Given the description of an element on the screen output the (x, y) to click on. 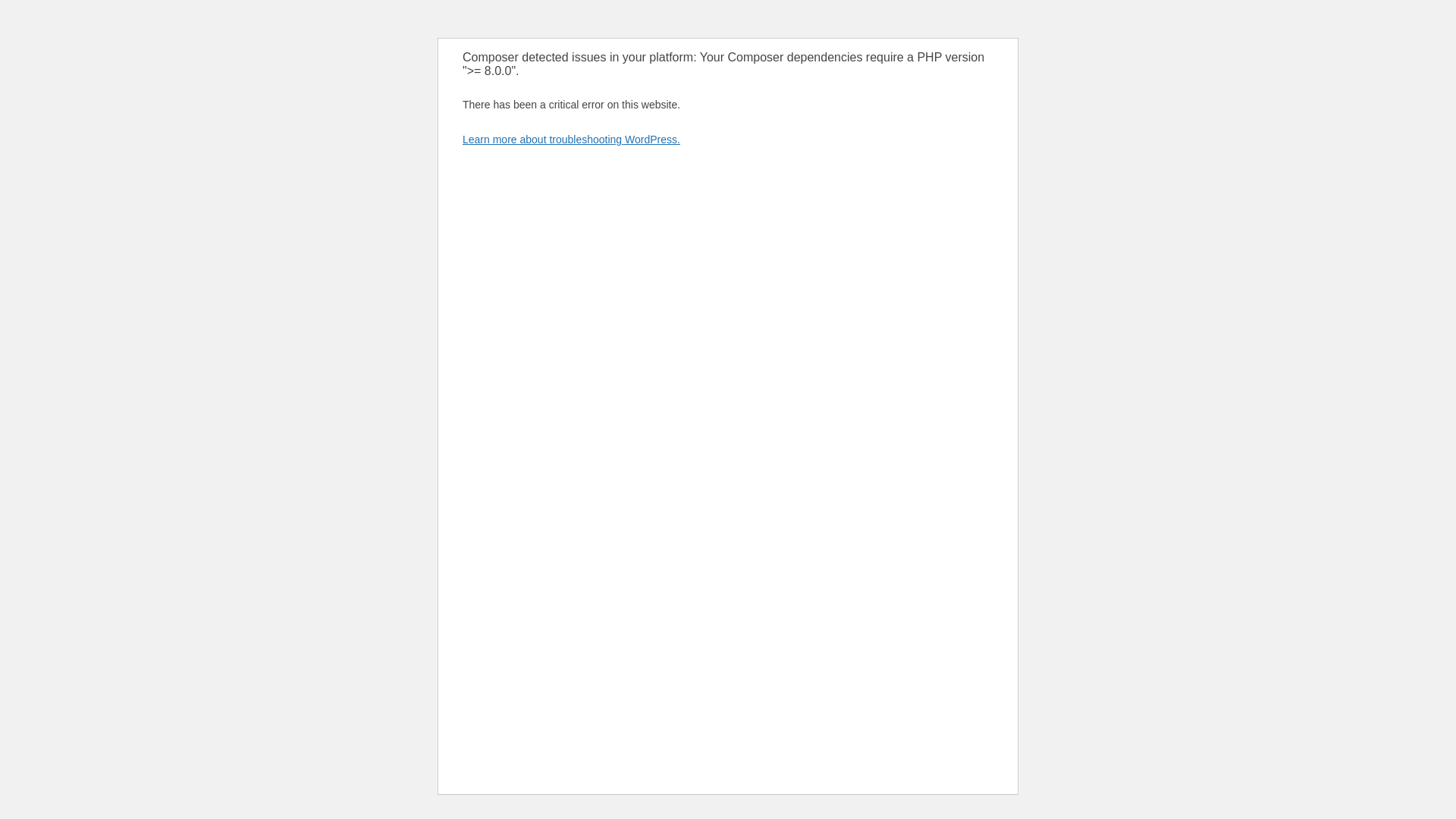
Learn more about troubleshooting WordPress. (571, 139)
